Given the description of an element on the screen output the (x, y) to click on. 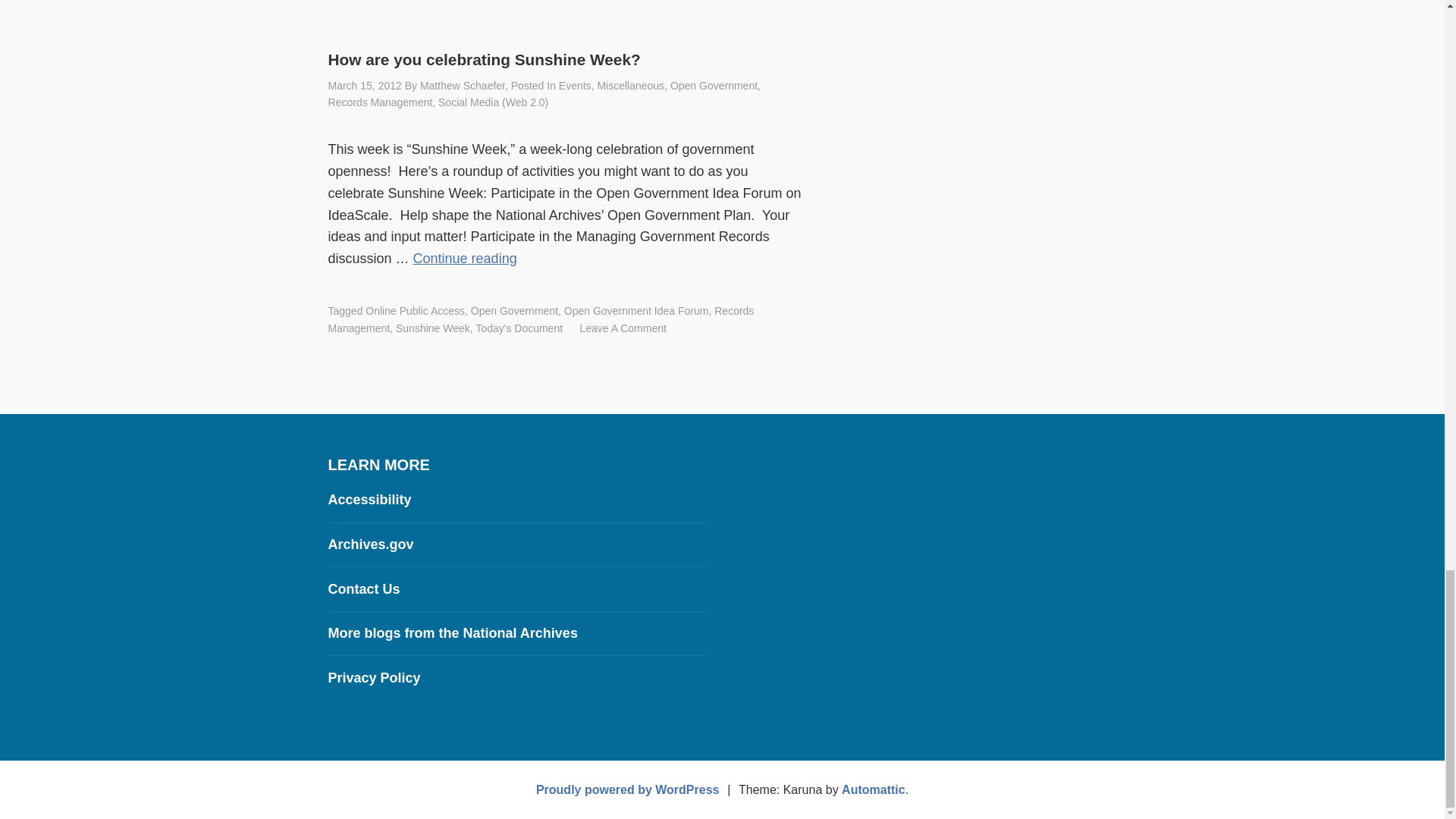
Contact information (362, 589)
Accessibility information on archives.gov (368, 499)
U.S. National Archives Blogroll (451, 632)
